Given the description of an element on the screen output the (x, y) to click on. 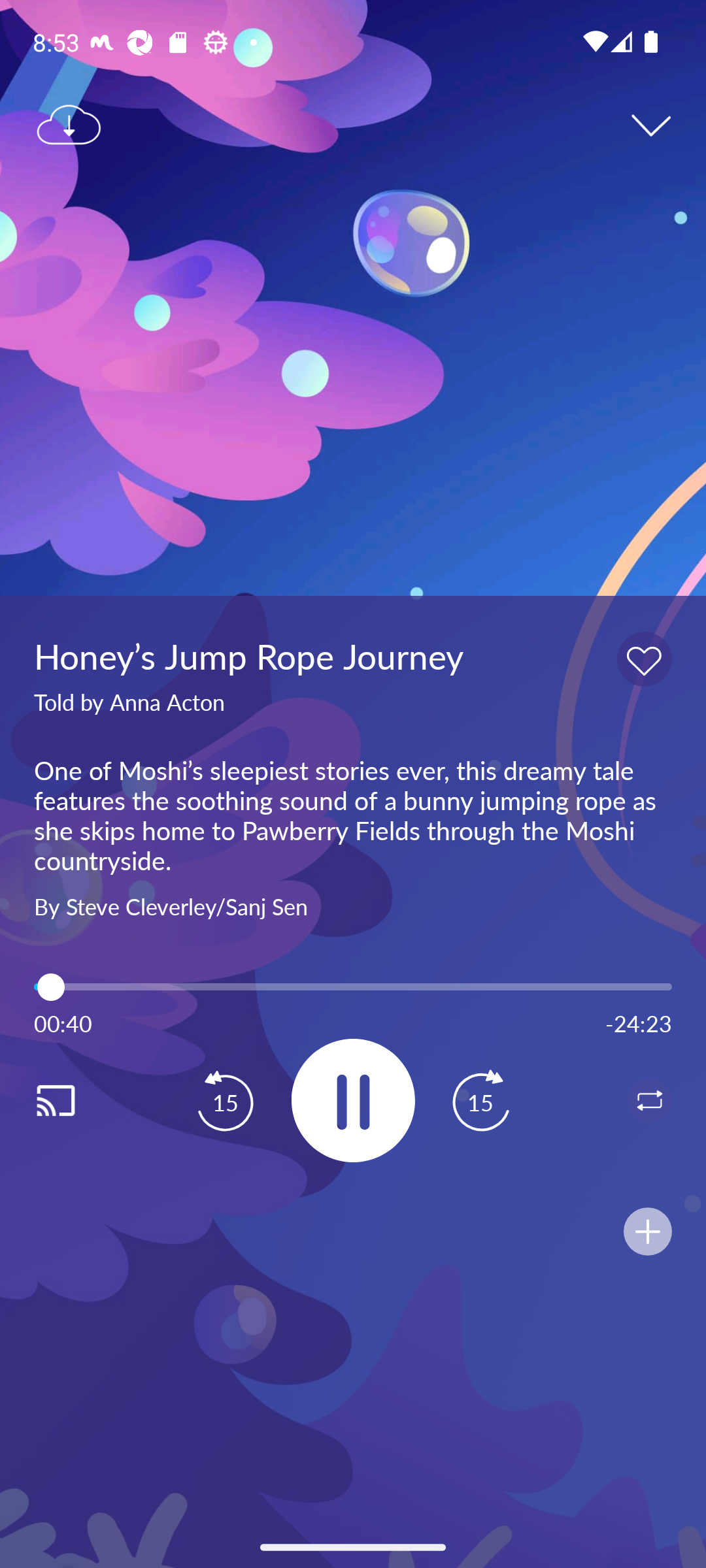
39.0 (352, 986)
Cast. Disconnected (76, 1100)
